Given the description of an element on the screen output the (x, y) to click on. 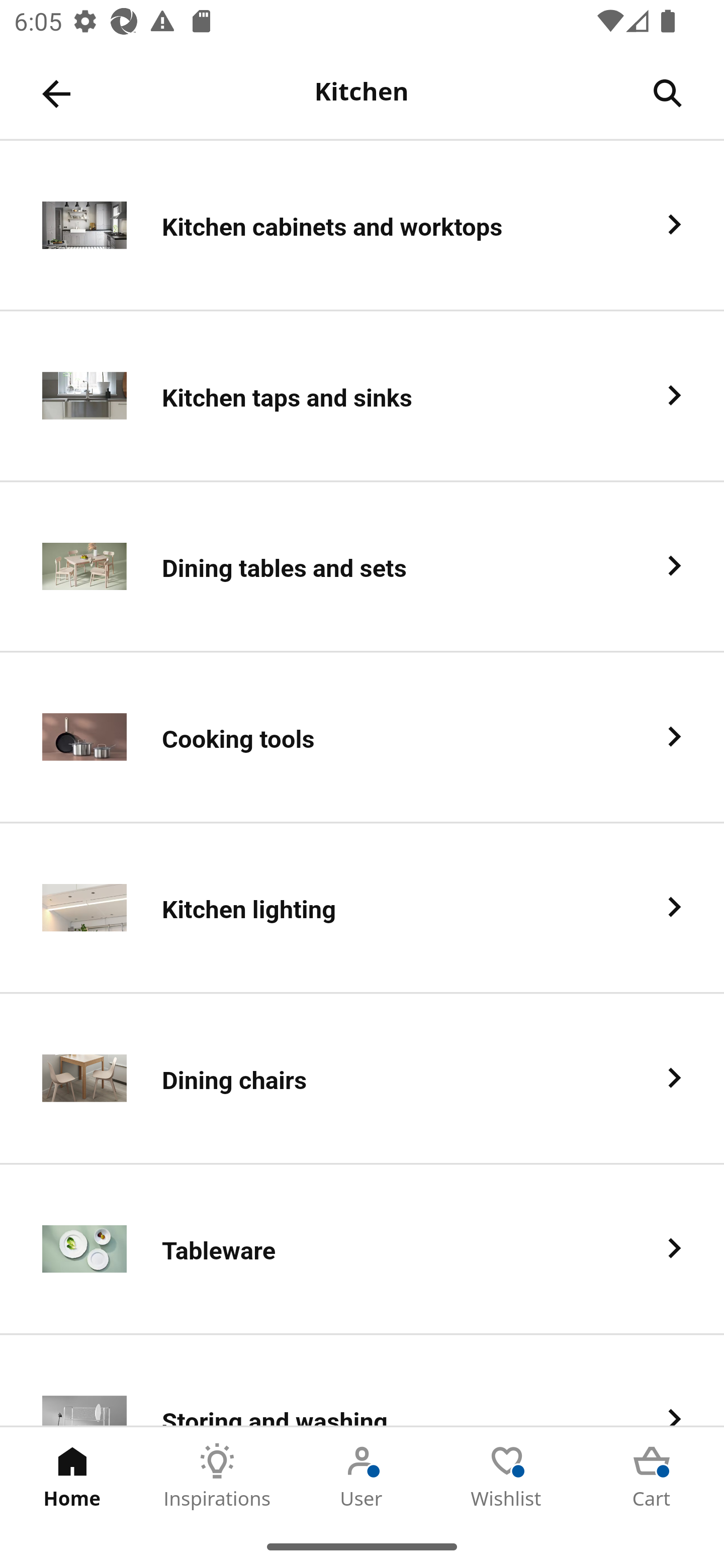
Kitchen cabinets and worktops (362, 226)
Kitchen taps and sinks (362, 396)
Dining tables and sets (362, 566)
Cooking tools (362, 737)
Kitchen lighting (362, 908)
Dining chairs (362, 1079)
Tableware (362, 1250)
Home
Tab 1 of 5 (72, 1476)
Inspirations
Tab 2 of 5 (216, 1476)
User
Tab 3 of 5 (361, 1476)
Wishlist
Tab 4 of 5 (506, 1476)
Cart
Tab 5 of 5 (651, 1476)
